Given the description of an element on the screen output the (x, y) to click on. 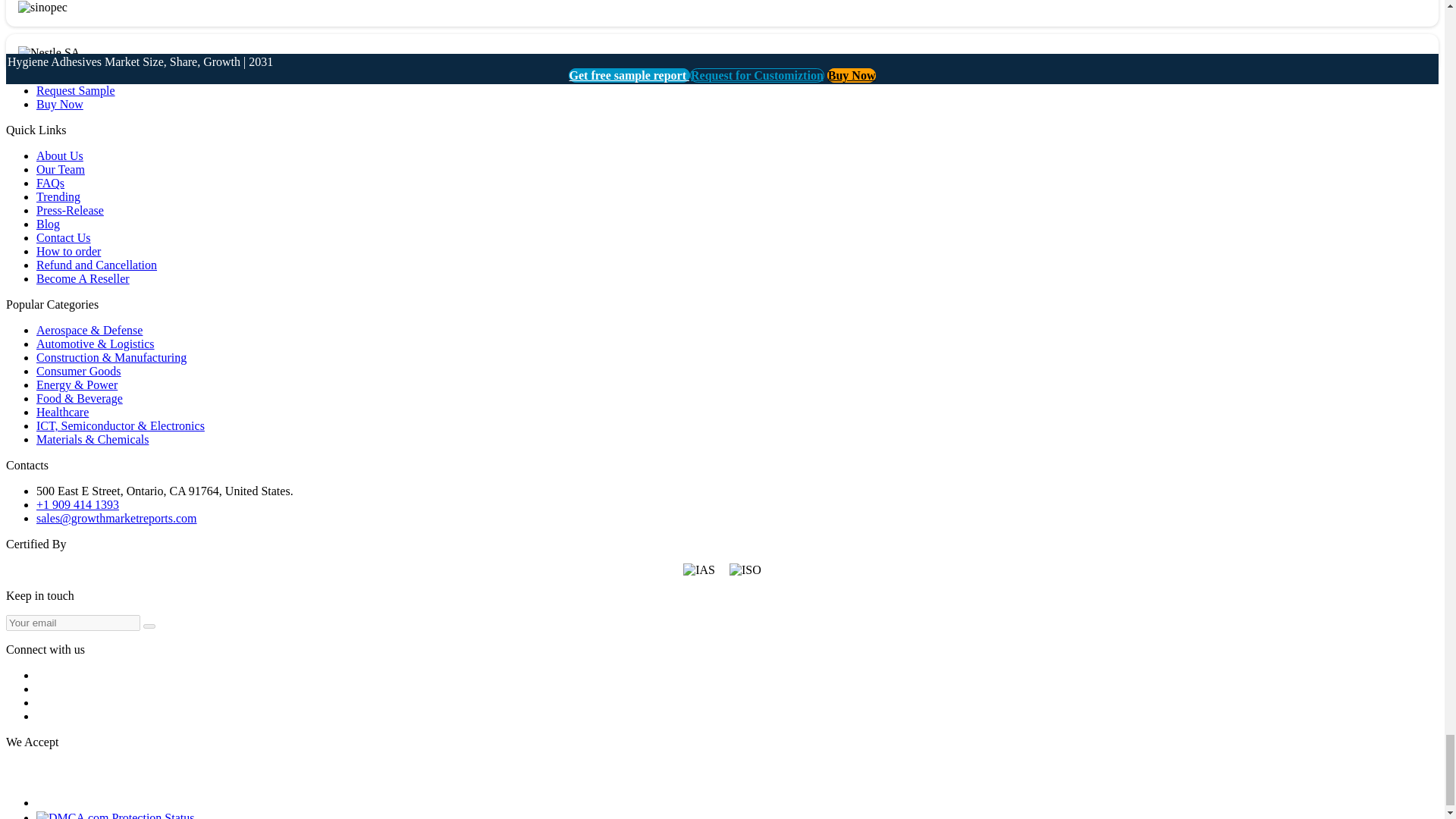
sinopec (41, 7)
Nestle SA (48, 52)
Our Team (60, 169)
